Given the description of an element on the screen output the (x, y) to click on. 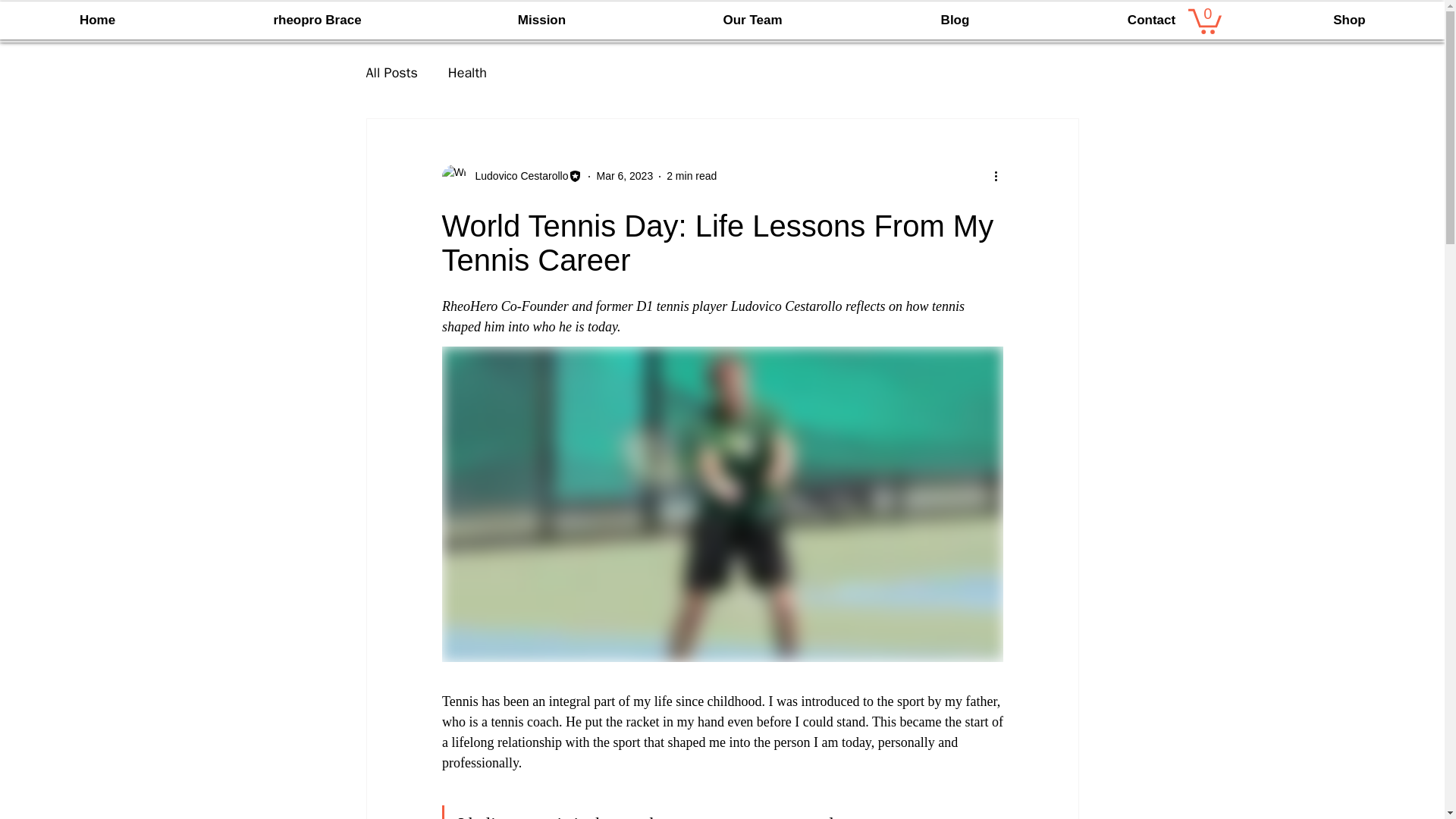
0 (1204, 19)
Mission (541, 20)
rheopro Brace (317, 20)
Ludovico Cestarollo (511, 176)
Mar 6, 2023 (623, 175)
0 (1204, 19)
Health (467, 72)
Blog (954, 20)
2 min read (691, 175)
Our Team (751, 20)
